Given the description of an element on the screen output the (x, y) to click on. 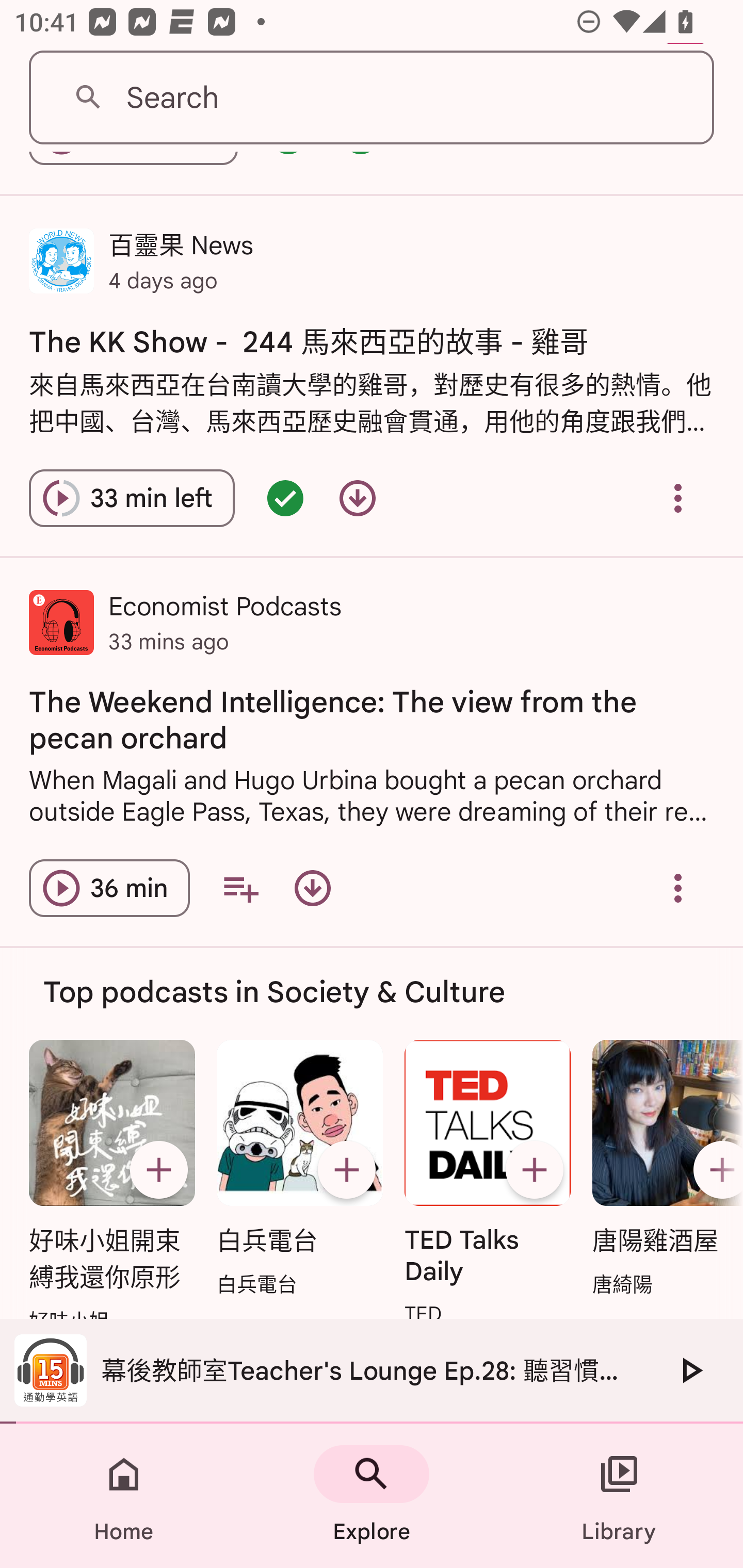
Search (371, 97)
Episode queued - double tap for options (284, 497)
Download episode (357, 497)
Overflow menu (677, 497)
Add to your queue (240, 888)
Download episode (312, 888)
Overflow menu (677, 888)
好味小姐開束縛我還你原形 Subscribe 好味小姐開束縛我還你原形 好味小姐 (111, 1187)
白兵電台 Subscribe 白兵電台 白兵電台 (299, 1169)
TED Talks Daily Subscribe TED Talks Daily TED (487, 1183)
唐陽雞酒屋 Subscribe 唐陽雞酒屋 唐綺陽 (662, 1169)
Subscribe (158, 1169)
Subscribe (346, 1169)
Subscribe (534, 1169)
Subscribe (714, 1169)
Play (690, 1370)
Home (123, 1495)
Library (619, 1495)
